Given the description of an element on the screen output the (x, y) to click on. 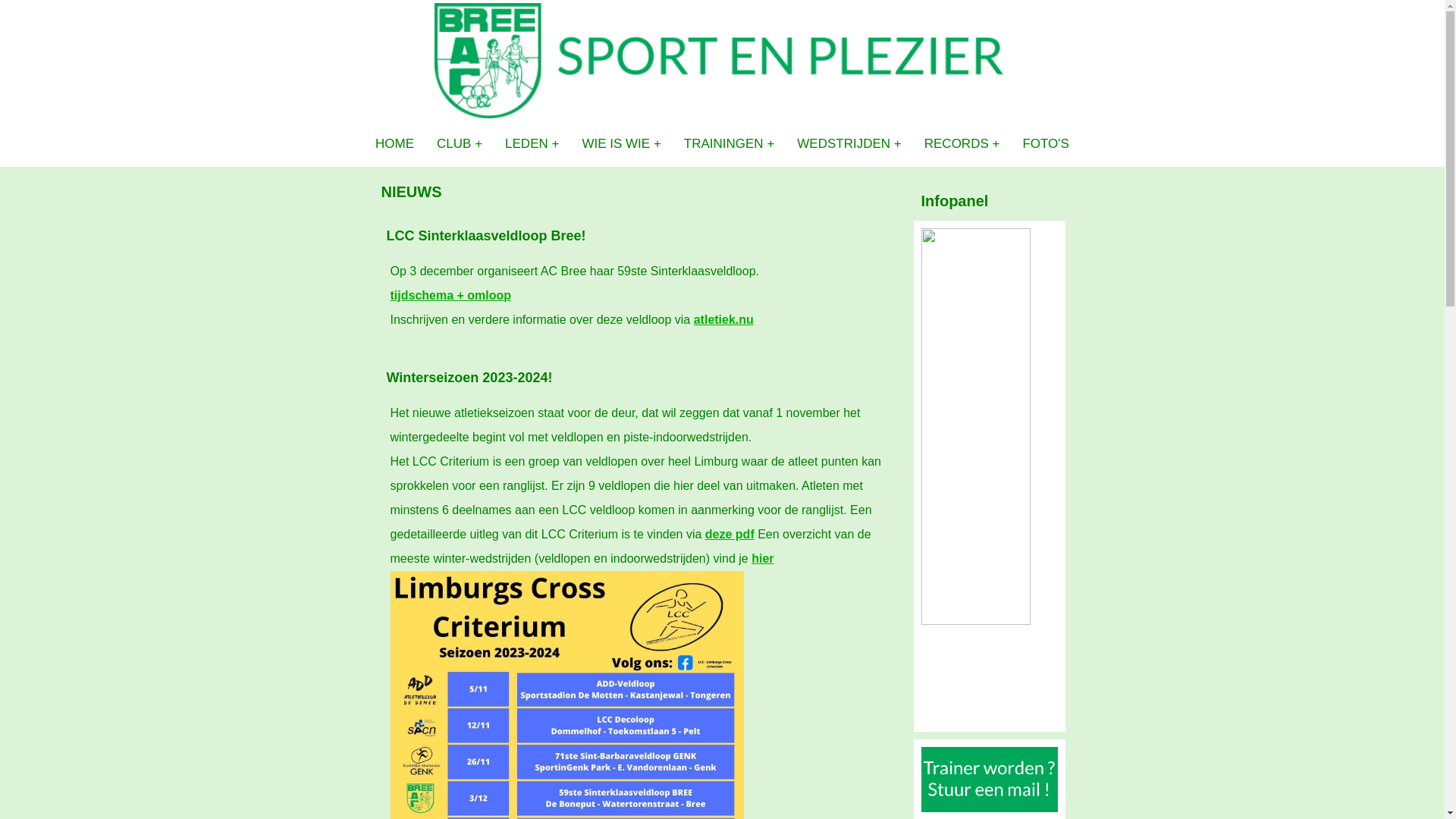
LEDEN Element type: text (531, 143)
WIE IS WIE Element type: text (620, 143)
HOME Element type: text (394, 143)
deze pdf Element type: text (729, 533)
tijdschema + omloop Element type: text (450, 294)
atletiek.nu Element type: text (723, 319)
FOTO'S Element type: text (1045, 143)
RECORDS Element type: text (962, 143)
WEDSTRIJDEN Element type: text (848, 143)
CLUB Element type: text (459, 143)
hier Element type: text (762, 558)
TRAININGEN Element type: text (729, 143)
